Given the description of an element on the screen output the (x, y) to click on. 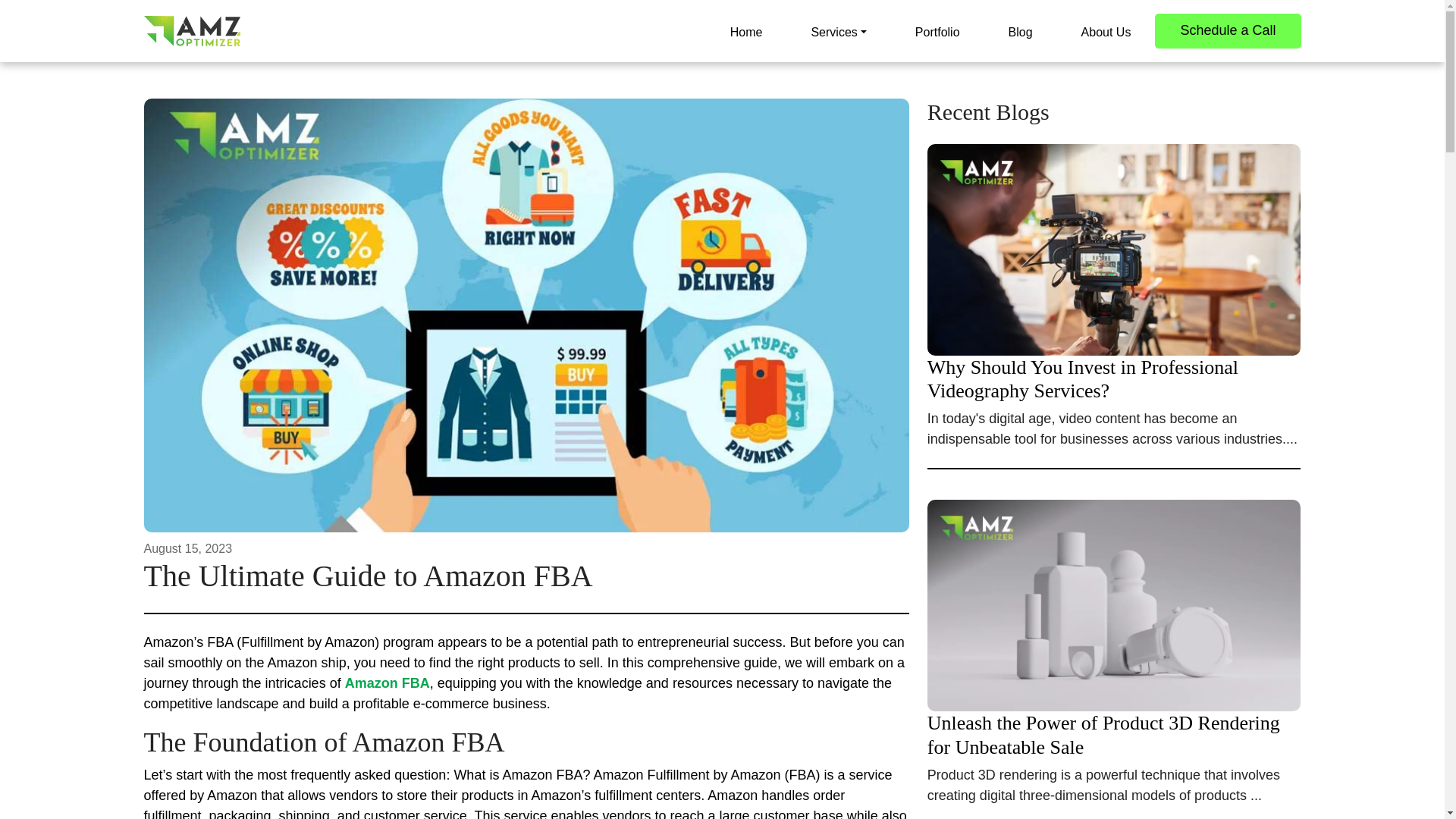
Schedule a Call (1227, 30)
About Us (1105, 30)
Services (837, 30)
Home (745, 30)
Blog (1020, 30)
Why Should You Invest in Professional Videography Services? (1114, 322)
Amazon FBA (387, 683)
Portfolio (937, 30)
